Given the description of an element on the screen output the (x, y) to click on. 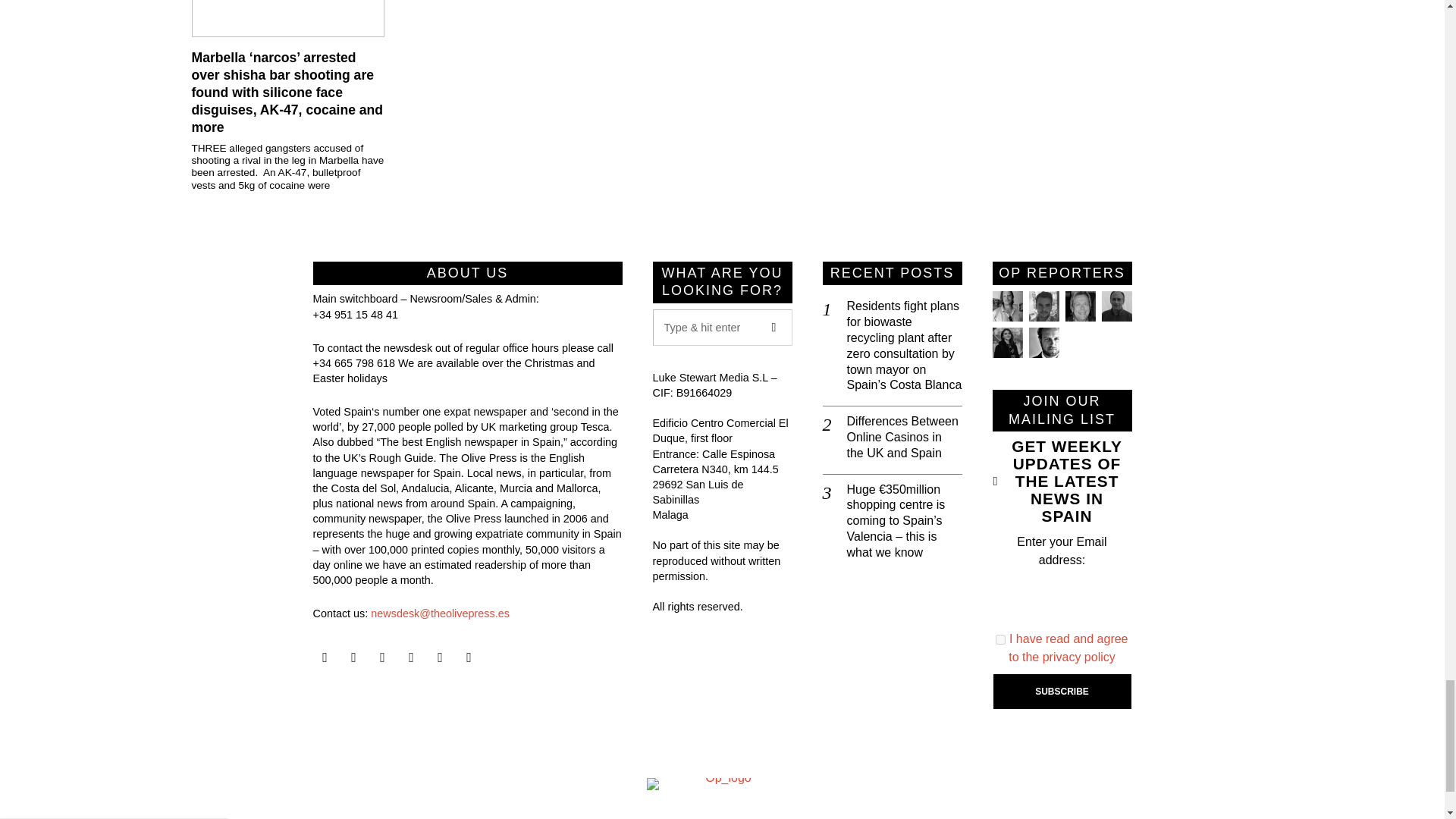
1 (1000, 639)
Go (773, 327)
Alex Trelinski (1079, 306)
SUBSCRIBE (1061, 691)
Dilip Kuner (1115, 306)
Laurence Dollimore (1042, 306)
